Given the description of an element on the screen output the (x, y) to click on. 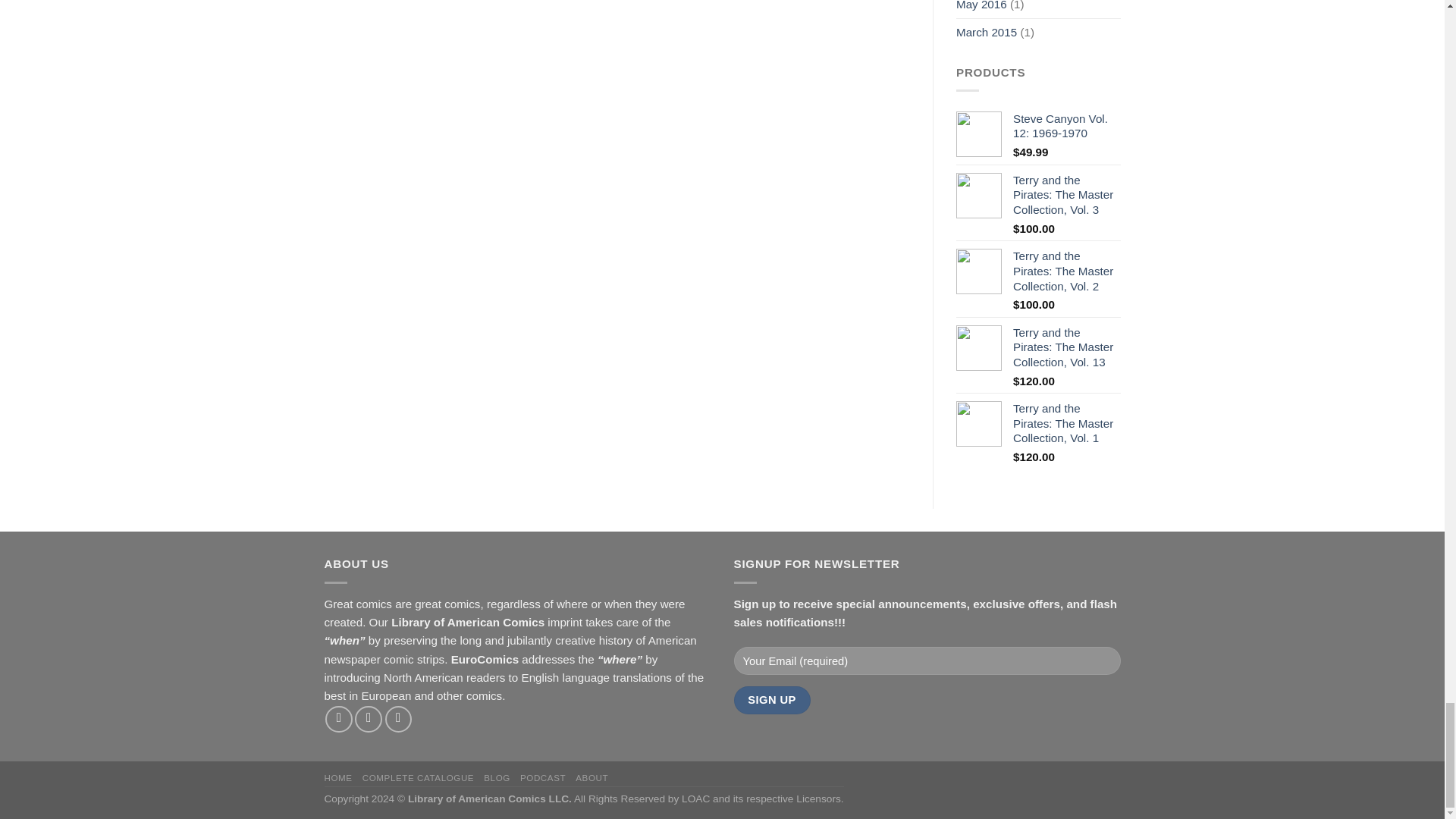
Sign Up (771, 700)
Follow on Facebook (338, 719)
